Given the description of an element on the screen output the (x, y) to click on. 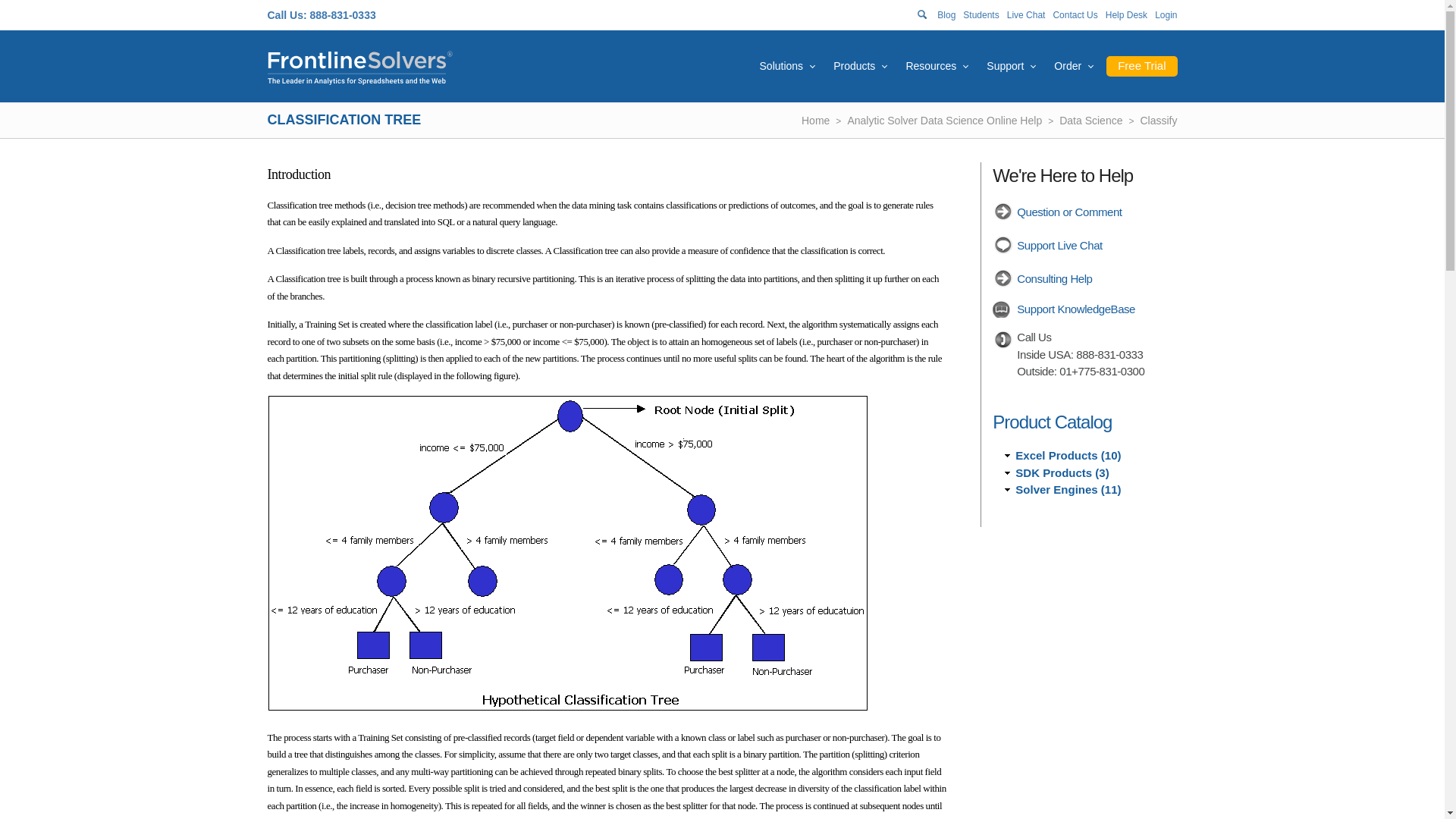
Contact Us (1074, 14)
Free Trial (1141, 66)
Search (7, 8)
Products (853, 65)
Home (359, 67)
Which product is right for me? (853, 65)
Solutions (781, 65)
Help Desk (1126, 14)
Live Chat (1026, 14)
